Given the description of an element on the screen output the (x, y) to click on. 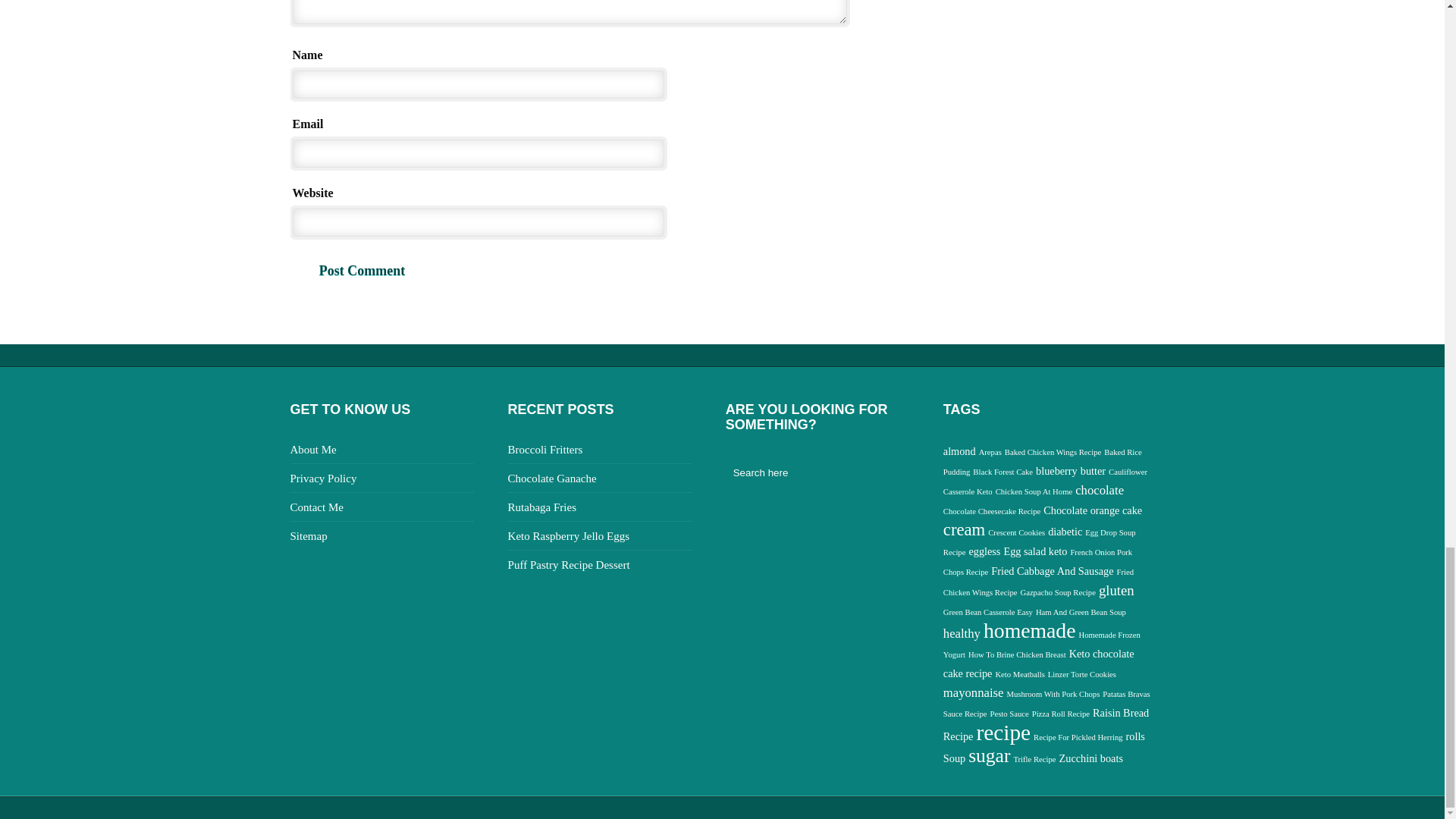
SEARCH (903, 472)
Broccoli Fritters (545, 449)
Post Comment (362, 270)
Contact Me (315, 507)
Sitemap (307, 535)
Chocolate Ganache (552, 478)
Search here (808, 472)
Privacy Policy (322, 478)
Rutabaga Fries (542, 507)
About Me (312, 449)
Post Comment (362, 270)
